Given the description of an element on the screen output the (x, y) to click on. 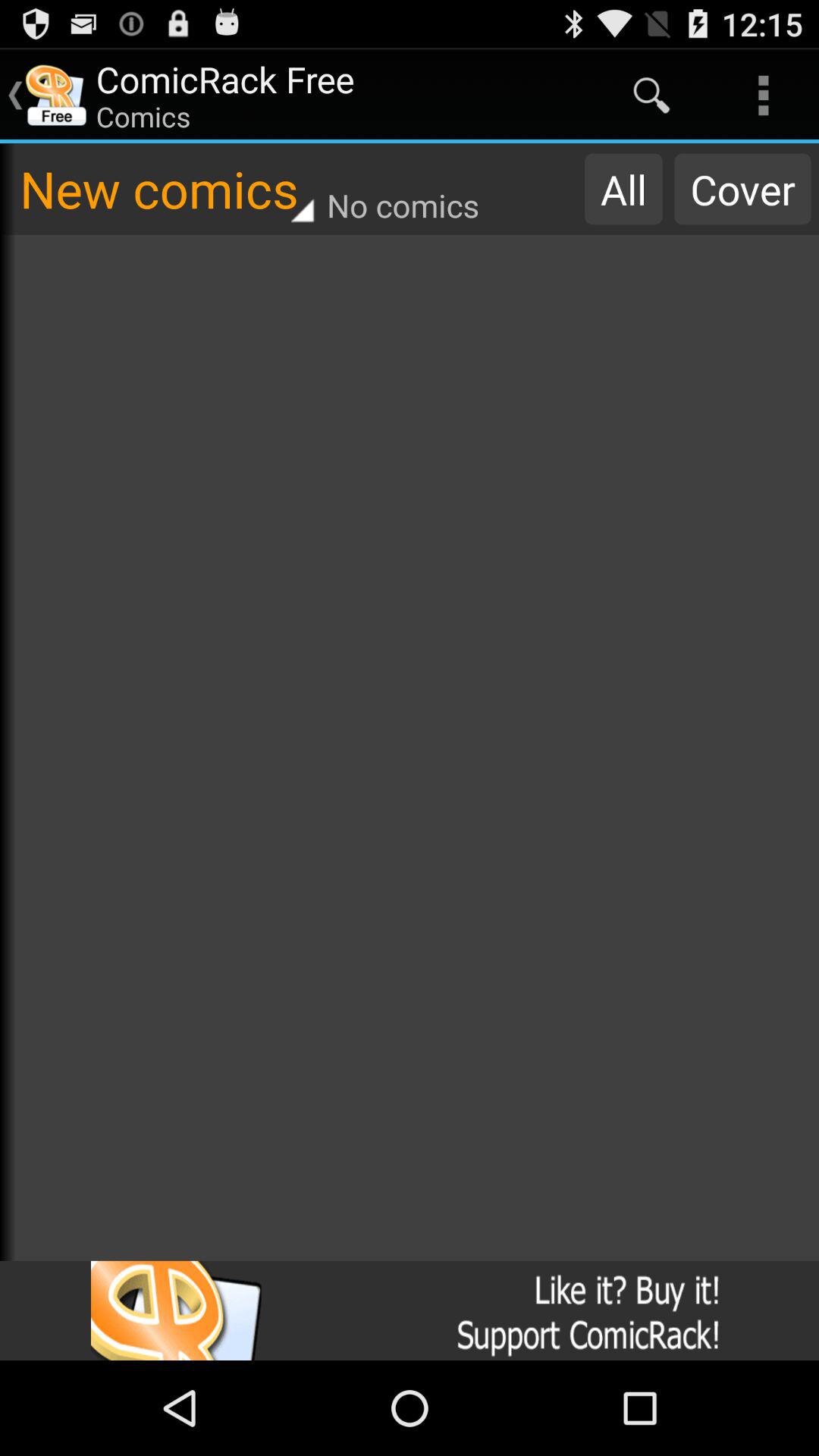
launch icon above all item (651, 95)
